Given the description of an element on the screen output the (x, y) to click on. 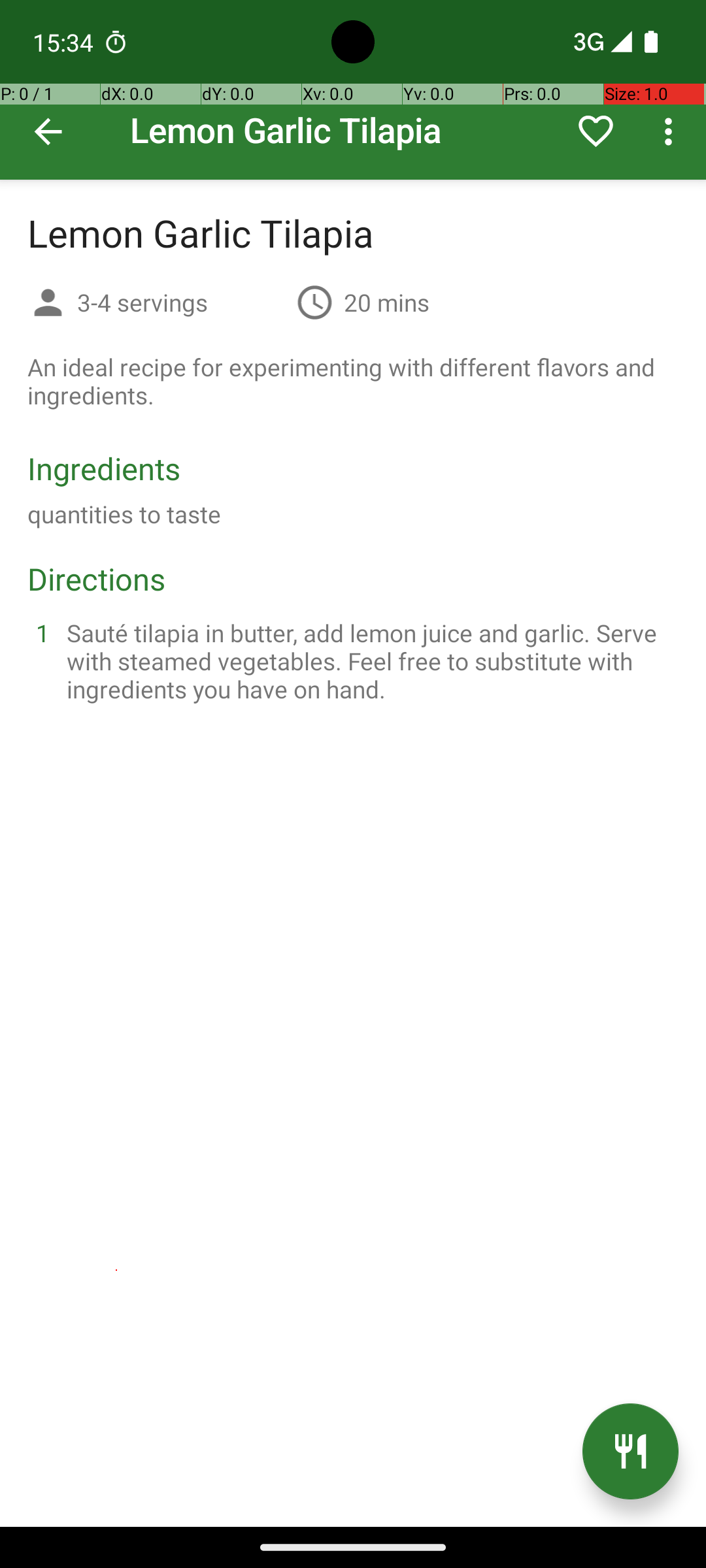
Sauté tilapia in butter, add lemon juice and garlic. Serve with steamed vegetables. Feel free to substitute with ingredients you have on hand. Element type: android.widget.TextView (368, 660)
